Given the description of an element on the screen output the (x, y) to click on. 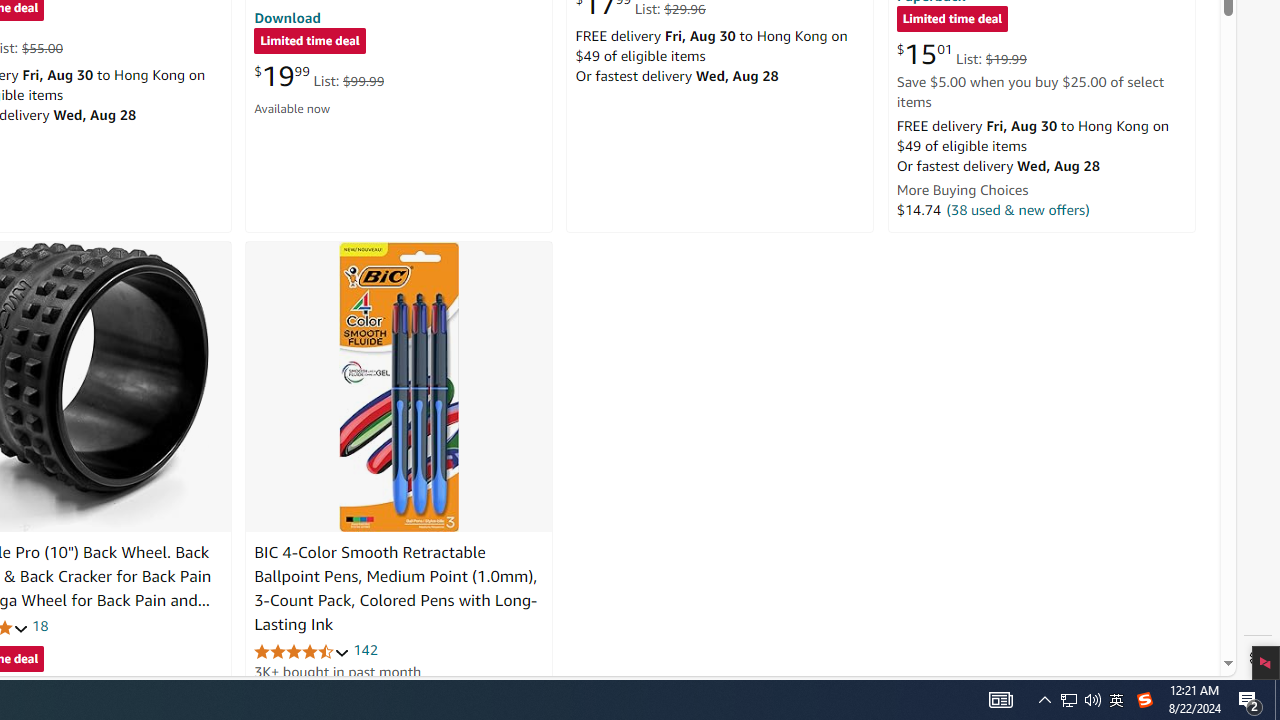
Download (287, 17)
142 (365, 650)
(38 used & new offers) (1017, 209)
$15.01 List: $19.99 (961, 54)
Limited time deal (952, 20)
18 (40, 625)
4.6 out of 5 stars (301, 650)
$19.99 List: $99.99 (319, 76)
